Given the description of an element on the screen output the (x, y) to click on. 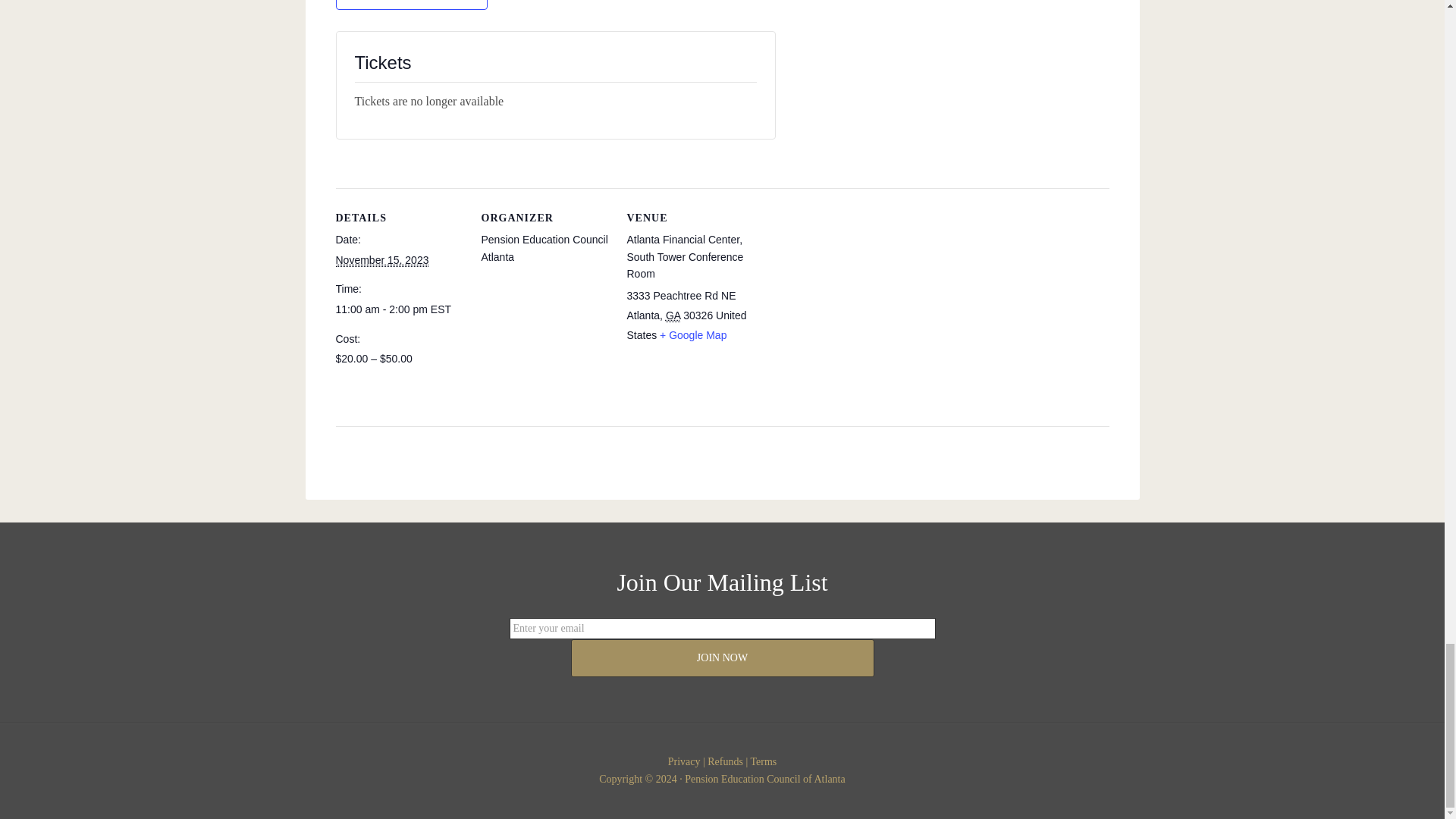
2023-11-15 (398, 309)
Click to view a Google Map (692, 335)
Enter your email (722, 628)
Georgia (672, 315)
2023-11-15 (381, 259)
Join Now (721, 658)
